Given the description of an element on the screen output the (x, y) to click on. 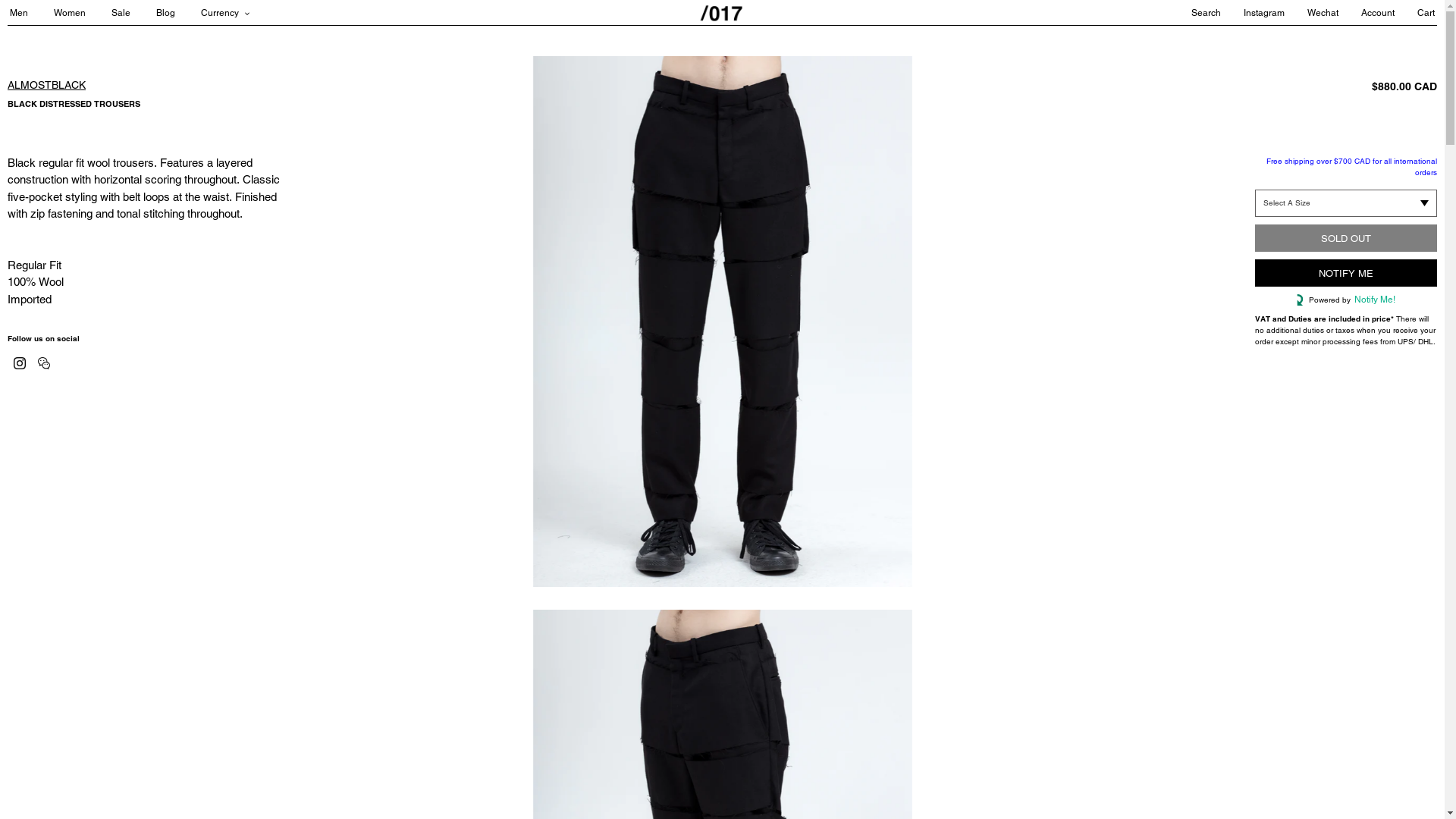
Cart Element type: text (1414, 12)
Women Element type: text (80, 12)
ALMOSTBLACK Element type: text (46, 84)
Currency Element type: text (224, 12)
Notify Me! Element type: text (1372, 299)
Search Element type: text (1194, 12)
Wechat Element type: text (1311, 12)
Sale Element type: text (132, 12)
Instagram Element type: text (1252, 12)
SOLD OUT Element type: text (1346, 237)
Men Element type: text (29, 12)
Blog Element type: text (176, 12)
NOTIFY ME Element type: text (1346, 272)
Account Element type: text (1366, 12)
